Given the description of an element on the screen output the (x, y) to click on. 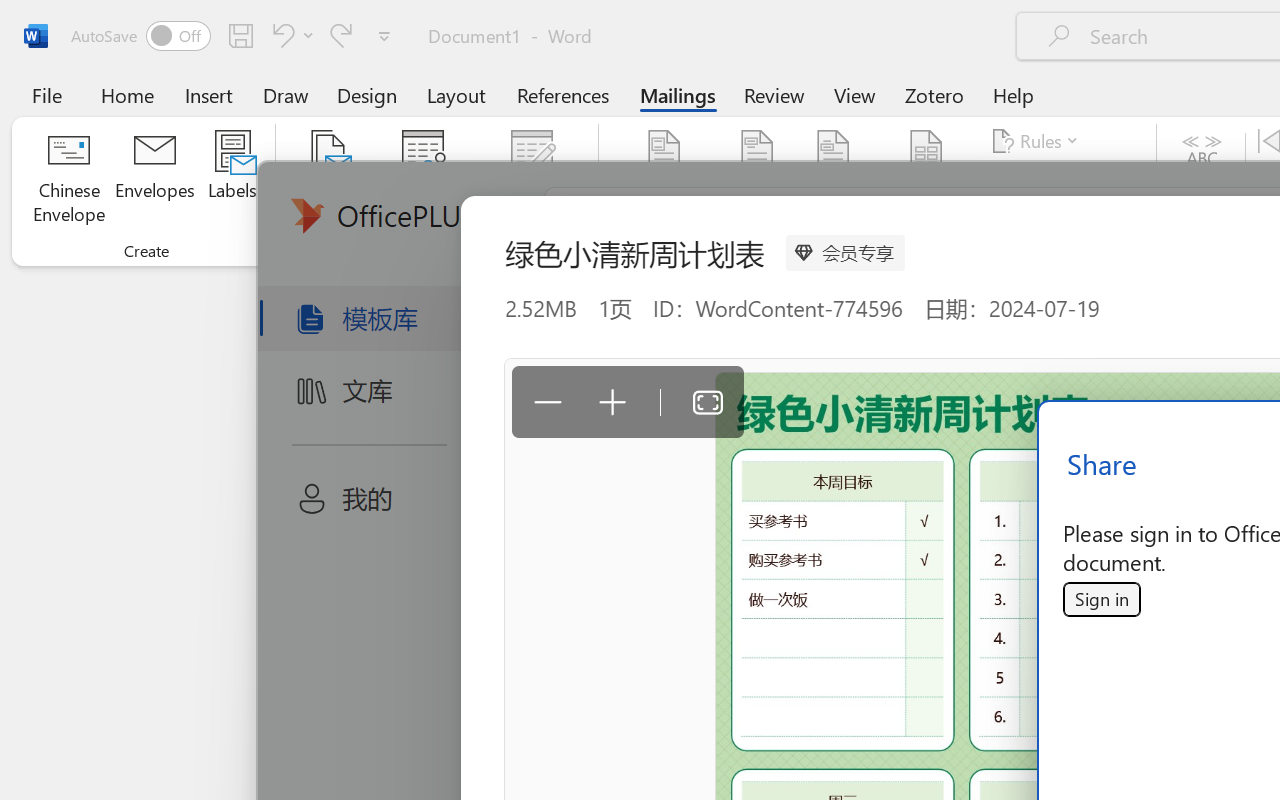
Update Labels (1064, 218)
Rules (1037, 141)
Select Recipients (423, 179)
Highlight Merge Fields (664, 179)
Greeting Line... (833, 179)
Insert Merge Field (927, 179)
